Given the description of an element on the screen output the (x, y) to click on. 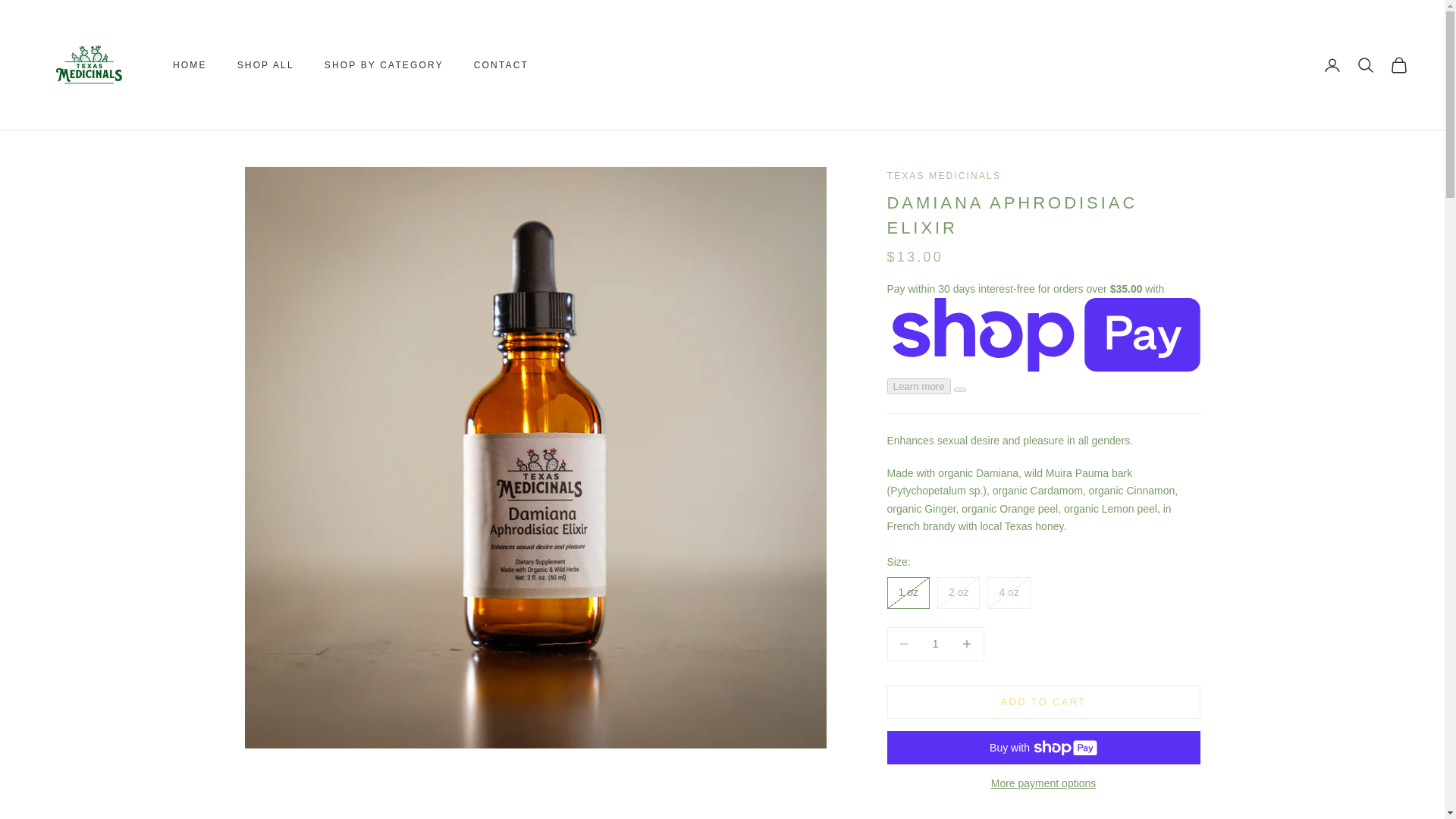
ADD TO CART (1042, 702)
Decrease quantity (967, 644)
1 (935, 644)
Decrease quantity (903, 644)
Open account page (1331, 65)
Open search (1365, 65)
HOME (189, 64)
Texas Medicinals (89, 64)
